Given the description of an element on the screen output the (x, y) to click on. 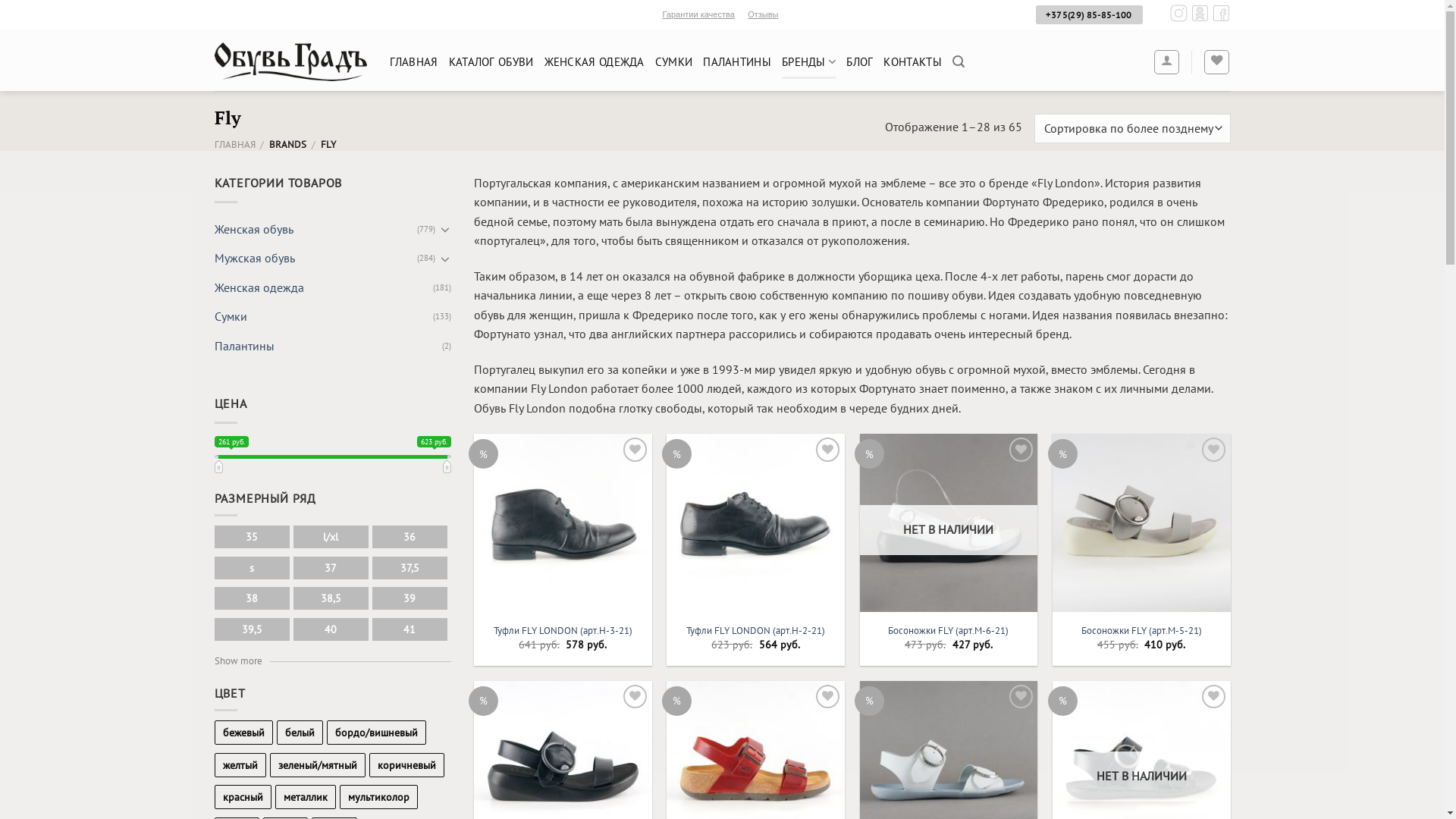
+375(29) 85-85-100 Element type: text (1089, 14)
